Given the description of an element on the screen output the (x, y) to click on. 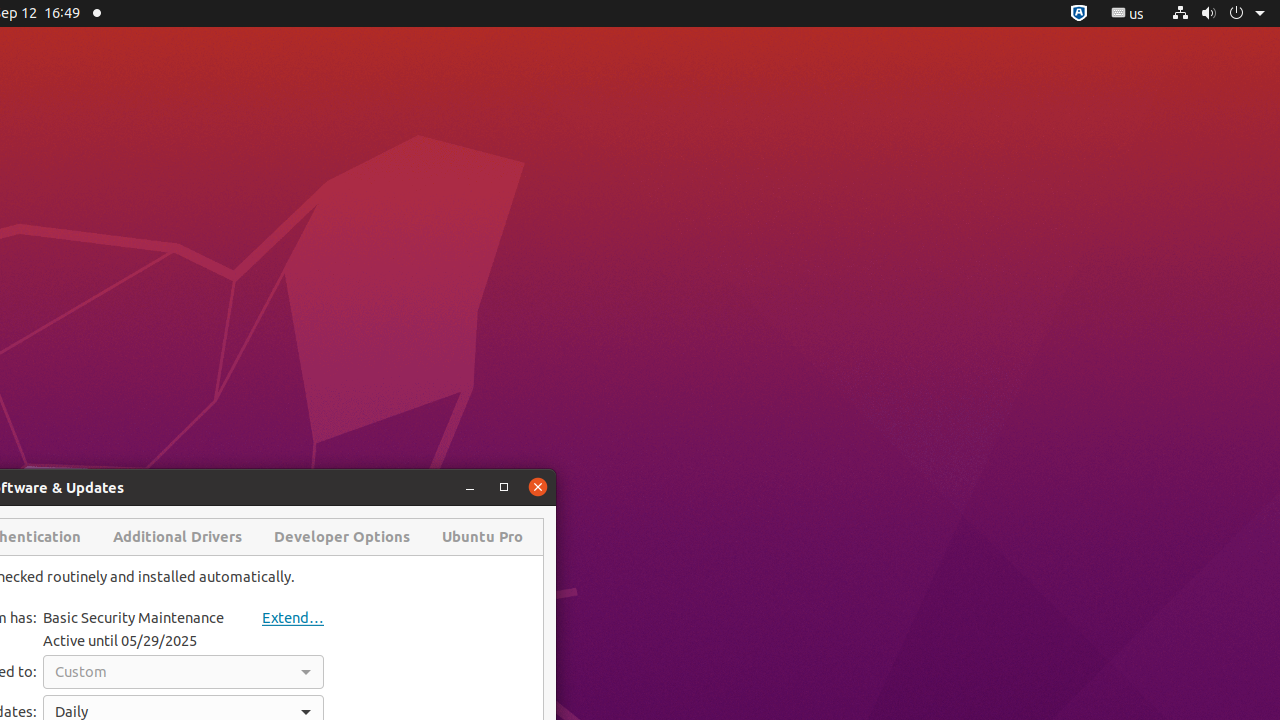
Additional Drivers Element type: page-tab (177, 537)
Active until 05/29/2025 Element type: label (120, 640)
Custom Element type: combo-box (183, 672)
